Given the description of an element on the screen output the (x, y) to click on. 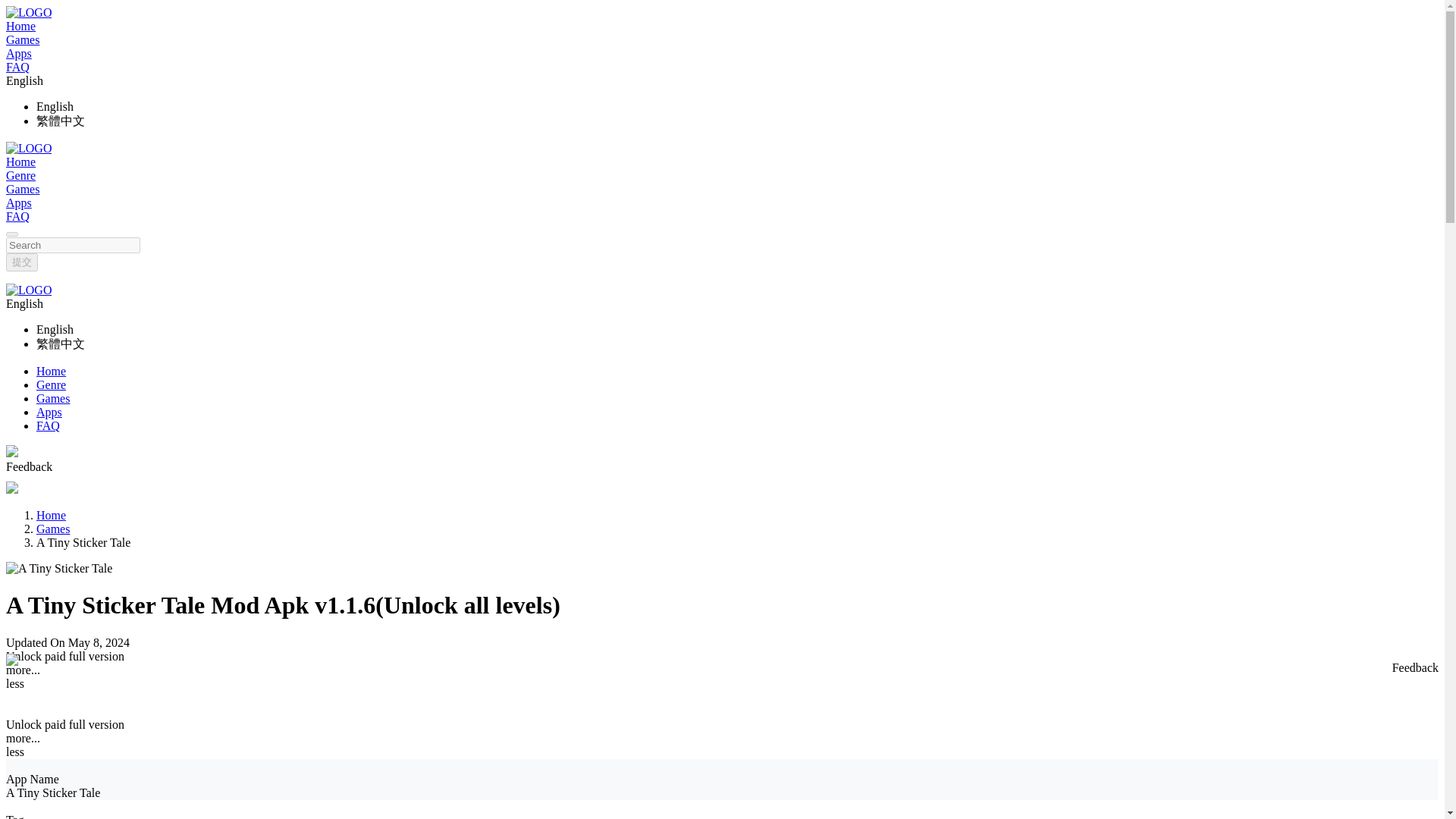
Home (19, 161)
FAQ (17, 215)
Genre (50, 384)
Home (50, 514)
Genre (19, 174)
Games (52, 398)
Games (52, 528)
Apps (18, 202)
FAQ (47, 425)
English (55, 328)
Apps (49, 411)
English (55, 106)
Home (50, 370)
Games (22, 188)
